Given the description of an element on the screen output the (x, y) to click on. 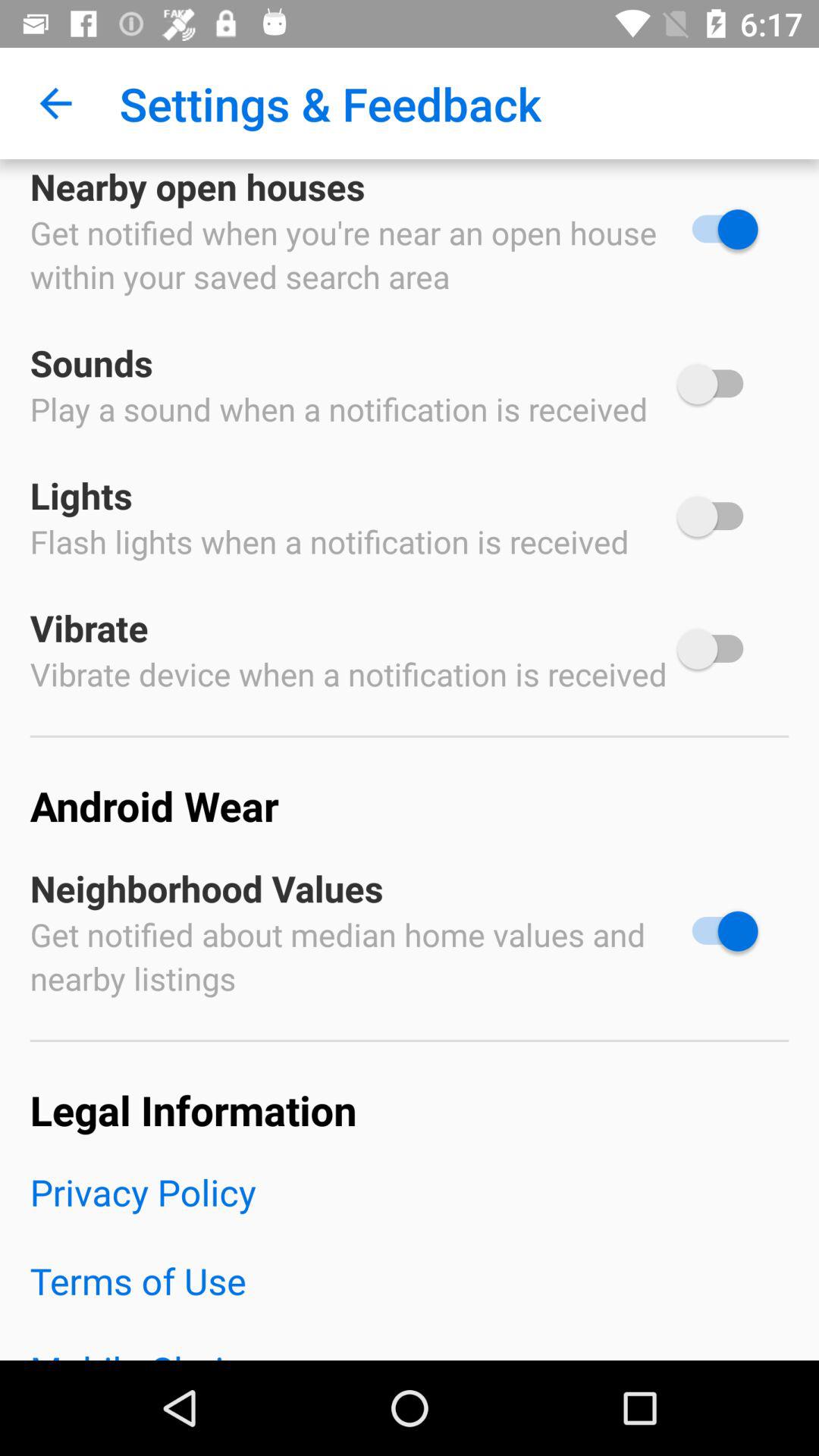
toggle open houses option (717, 229)
